Given the description of an element on the screen output the (x, y) to click on. 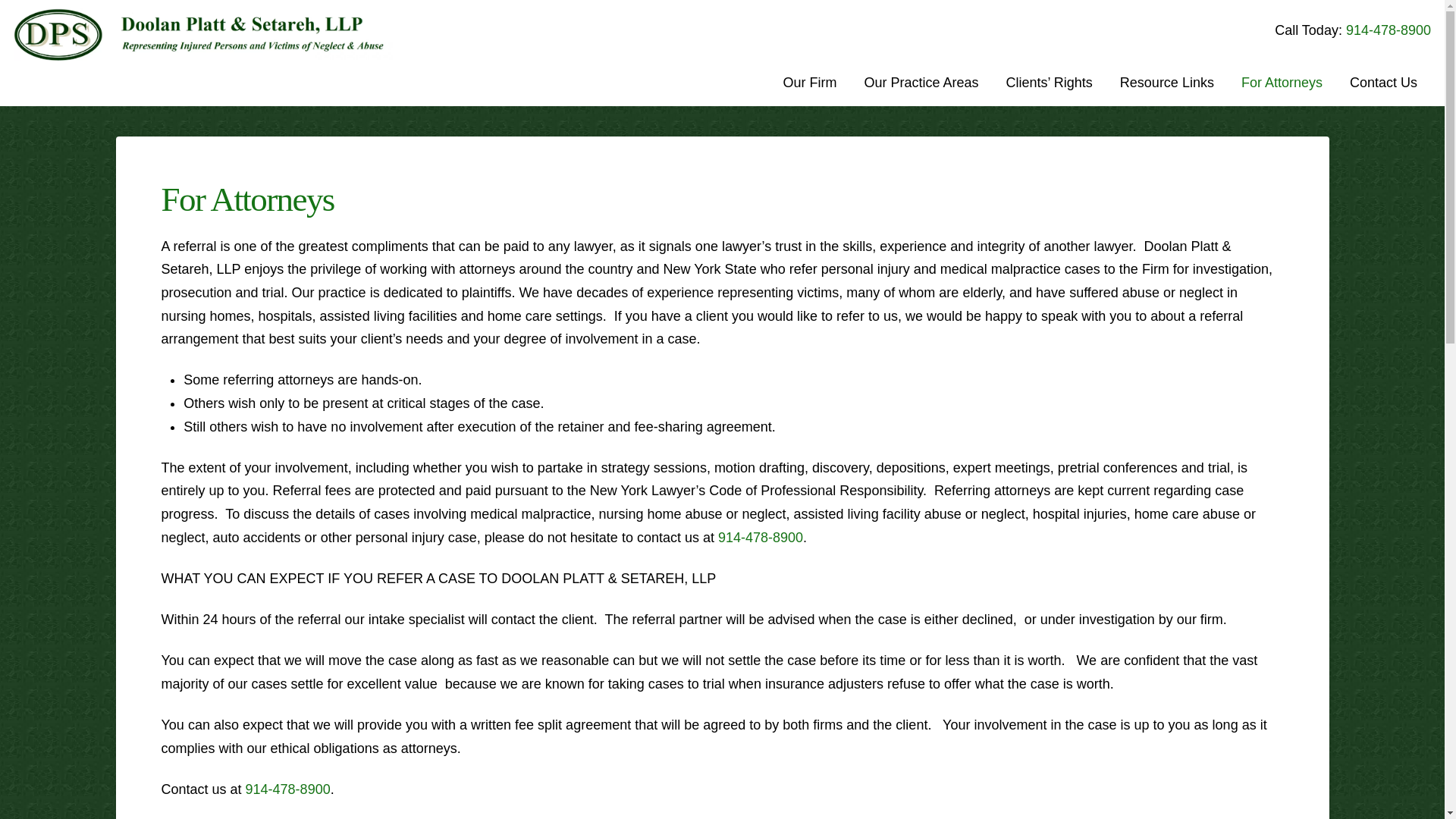
Our Practice Areas (920, 83)
914-478-8900 (288, 789)
Our Firm (809, 83)
For Attorneys (1281, 83)
Resource Links (1166, 83)
914-478-8900 (1388, 29)
Contact Us (1383, 83)
914-478-8900 (760, 537)
